Given the description of an element on the screen output the (x, y) to click on. 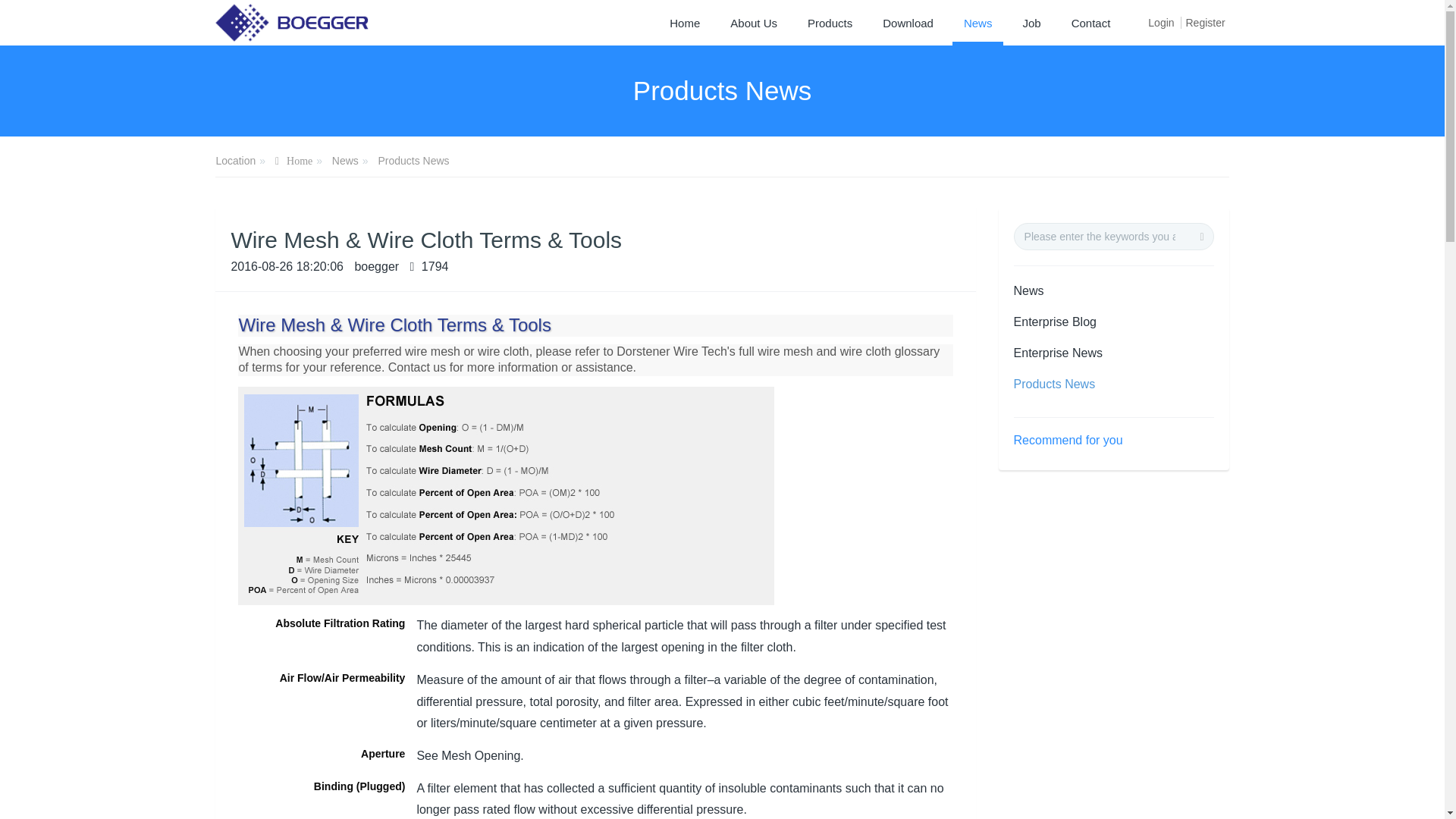
About Us (754, 22)
Boegger Industech Limited (297, 22)
Home (684, 22)
News (344, 160)
News (978, 22)
News (978, 22)
Home (684, 22)
Products (829, 22)
About Us (754, 22)
Products (829, 22)
